Given the description of an element on the screen output the (x, y) to click on. 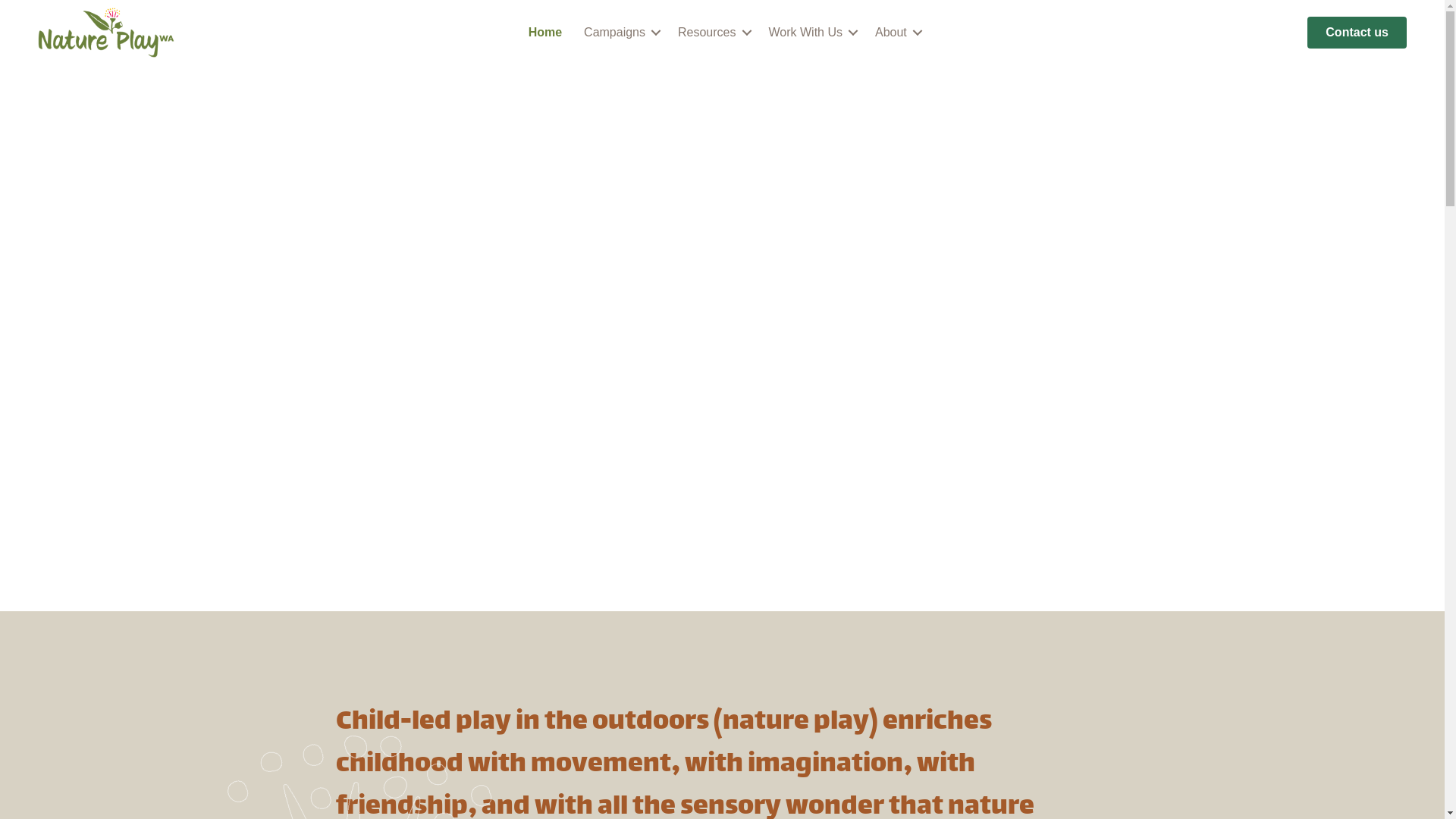
Campaigns Element type: text (619, 32)
Resources Element type: text (711, 32)
Nature Play Logo Element type: hover (105, 32)
Work With Us Element type: text (810, 32)
Contact us Element type: text (1356, 32)
Home Element type: text (544, 32)
About Element type: text (896, 32)
